Given the description of an element on the screen output the (x, y) to click on. 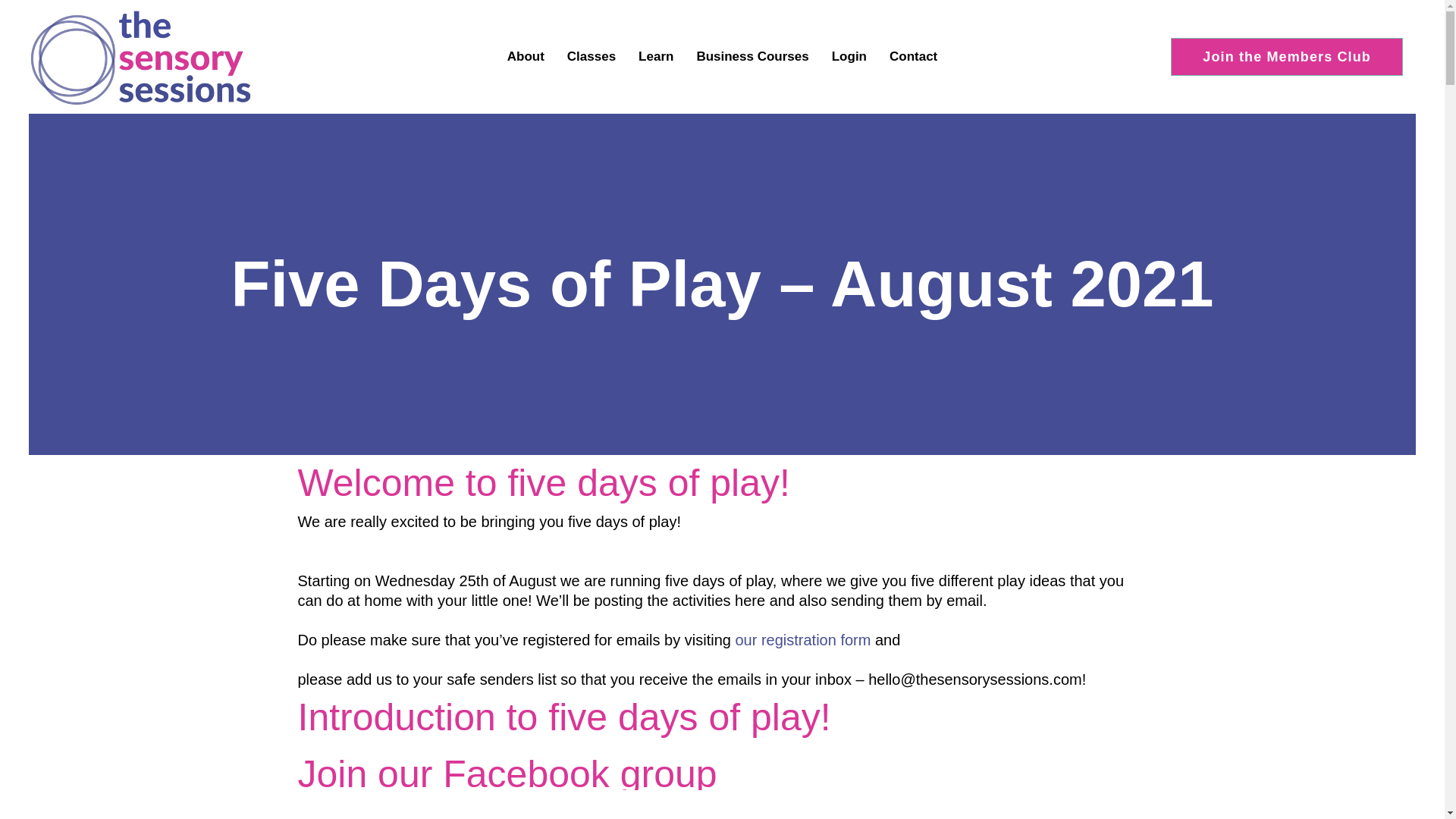
About (526, 56)
Contact (913, 56)
About (526, 56)
Classes (591, 56)
Learn (655, 56)
our registration form (802, 639)
Login (849, 56)
Business Courses (751, 56)
Join the Members Club (1286, 56)
